Given the description of an element on the screen output the (x, y) to click on. 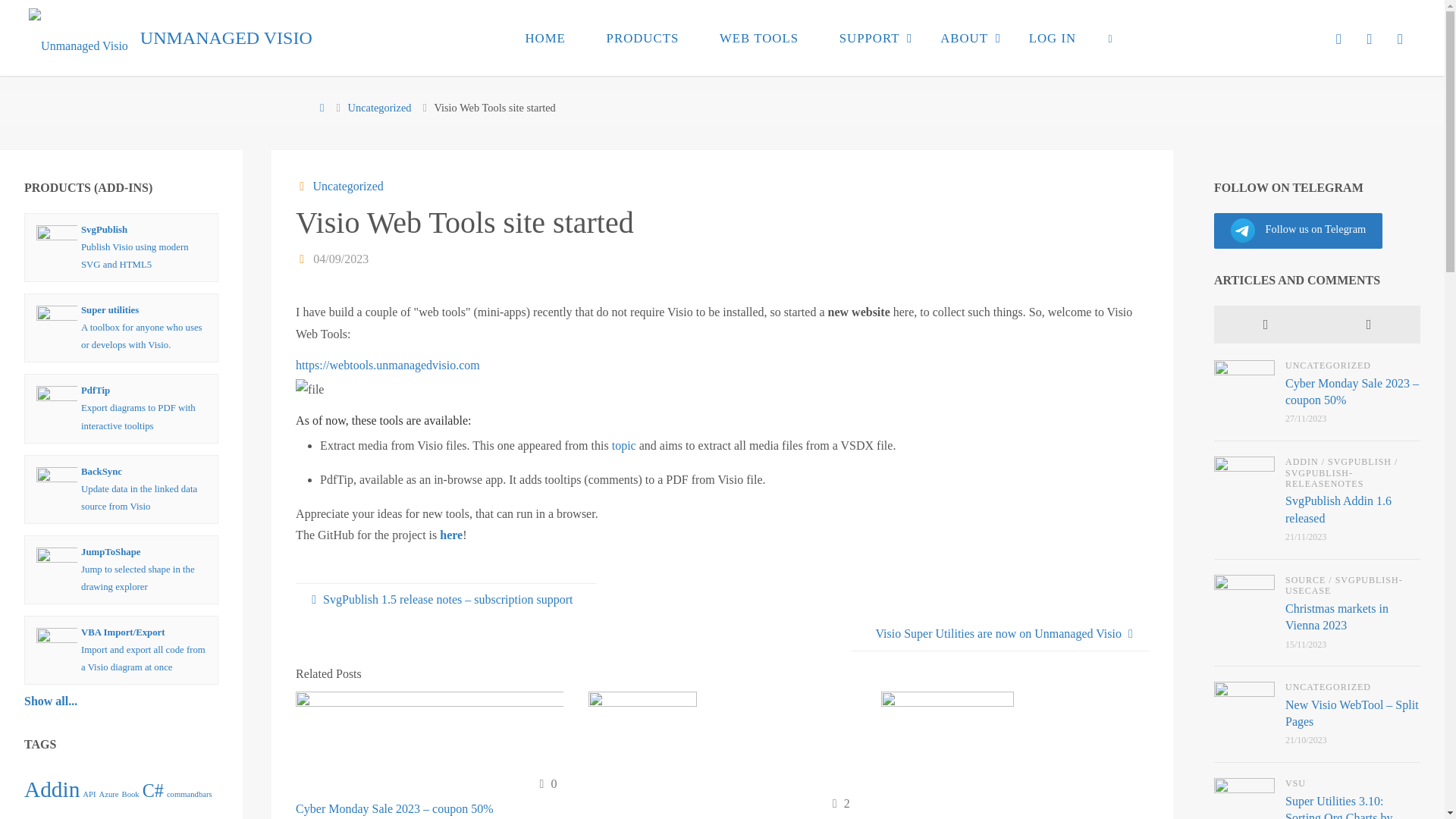
New Visio book by David J Parker (946, 765)
WEB TOOLS (758, 38)
Recent Posts (1265, 324)
PRODUCTS (642, 38)
Unmanaged Visio (78, 37)
SUPPORT (869, 38)
Categories (302, 185)
UNMANAGED VISIO (226, 37)
Improved diagramming with Visio (226, 37)
HOME (545, 38)
